Given the description of an element on the screen output the (x, y) to click on. 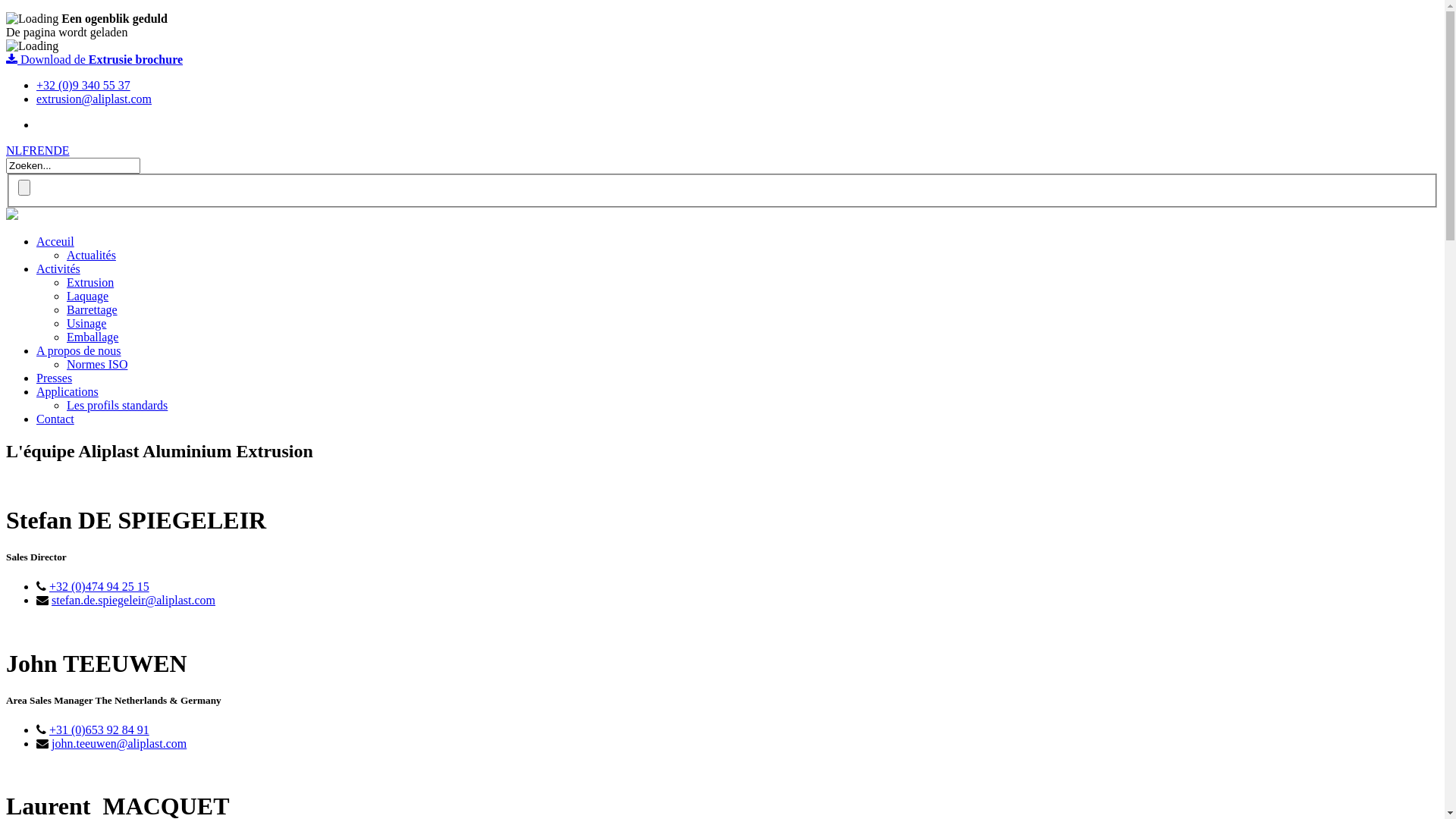
+31 (0)653 92 84 91 Element type: text (99, 729)
Usinage Element type: text (86, 322)
stefan.de.spiegeleir@aliplast.com Element type: text (133, 599)
FR Element type: text (29, 150)
A propos de nous Element type: text (78, 350)
Barrettage Element type: text (91, 309)
Emballage Element type: text (92, 336)
m Element type: text (181, 743)
Les profils standards Element type: text (116, 404)
john.teeuwen@aliplast.co Element type: text (114, 743)
+32 (0)9 340 55 37 Element type: text (83, 84)
Applications Element type: text (67, 391)
Laquage Element type: text (87, 295)
Normes ISO Element type: text (96, 363)
NL Element type: text (13, 150)
Download de Extrusie brochure Element type: text (94, 59)
Presses Element type: text (54, 377)
Contact Element type: text (55, 418)
extrusion@aliplast.com Element type: text (93, 98)
Extrusion Element type: text (89, 282)
DE Element type: text (61, 150)
EN Element type: text (45, 150)
+32 (0)474 94 25 15 Element type: text (99, 586)
Aliplast Aluminium Extrusion Element type: hover (12, 215)
Acceuil Element type: text (55, 241)
